Given the description of an element on the screen output the (x, y) to click on. 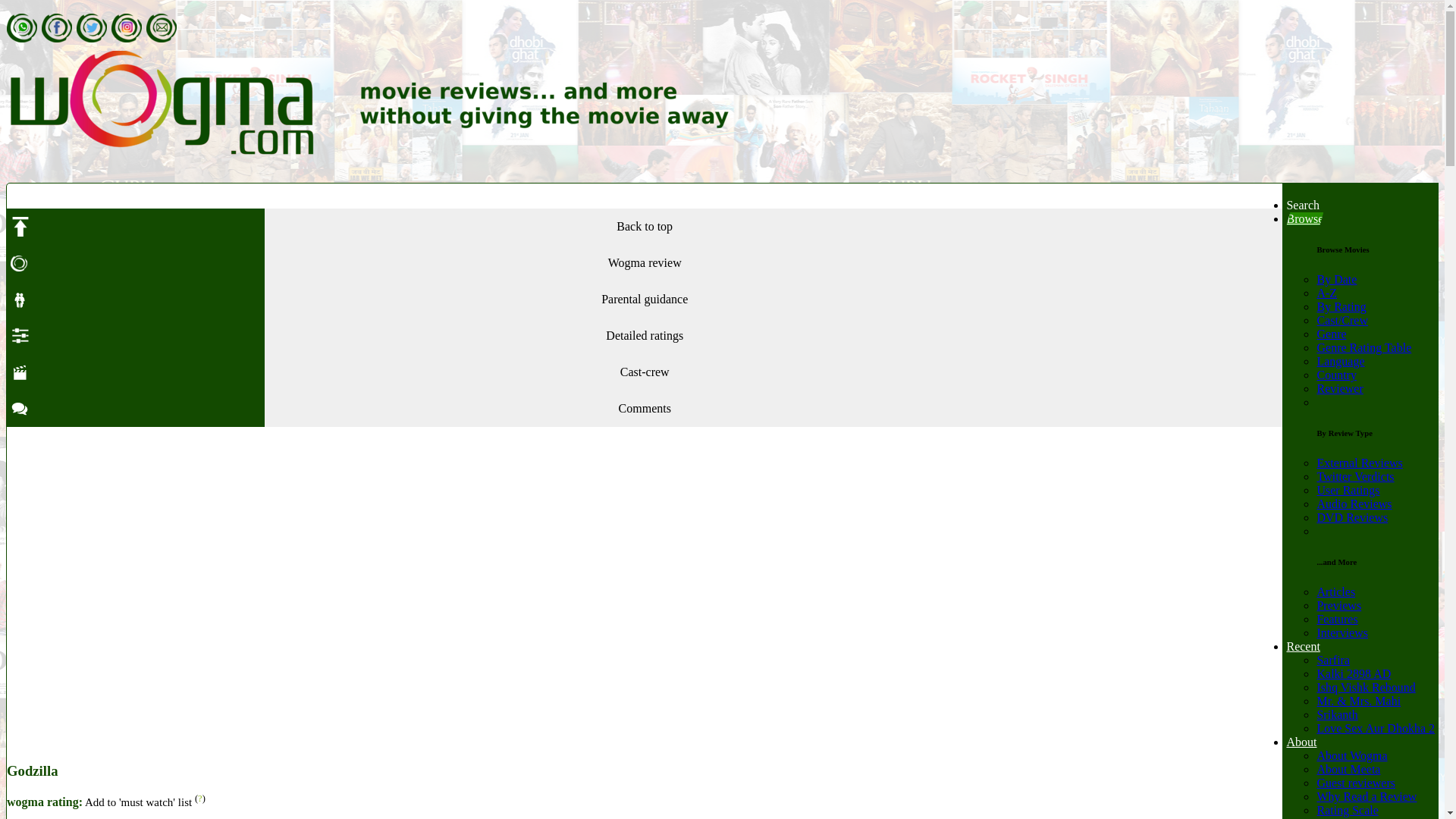
DVD Reviews (1351, 517)
By Rating (1340, 306)
User Ratings (1347, 490)
Reviewer (1339, 388)
About Wogma (1351, 755)
About (1300, 741)
Country (1335, 374)
Articles (1335, 591)
Interviews (1342, 632)
Twitter Verdicts (1354, 476)
A-Z (1326, 292)
Ishq Vishk Rebound (1365, 686)
Srikanth (1336, 714)
Sarfira (1332, 659)
Audio Reviews (1353, 503)
